Given the description of an element on the screen output the (x, y) to click on. 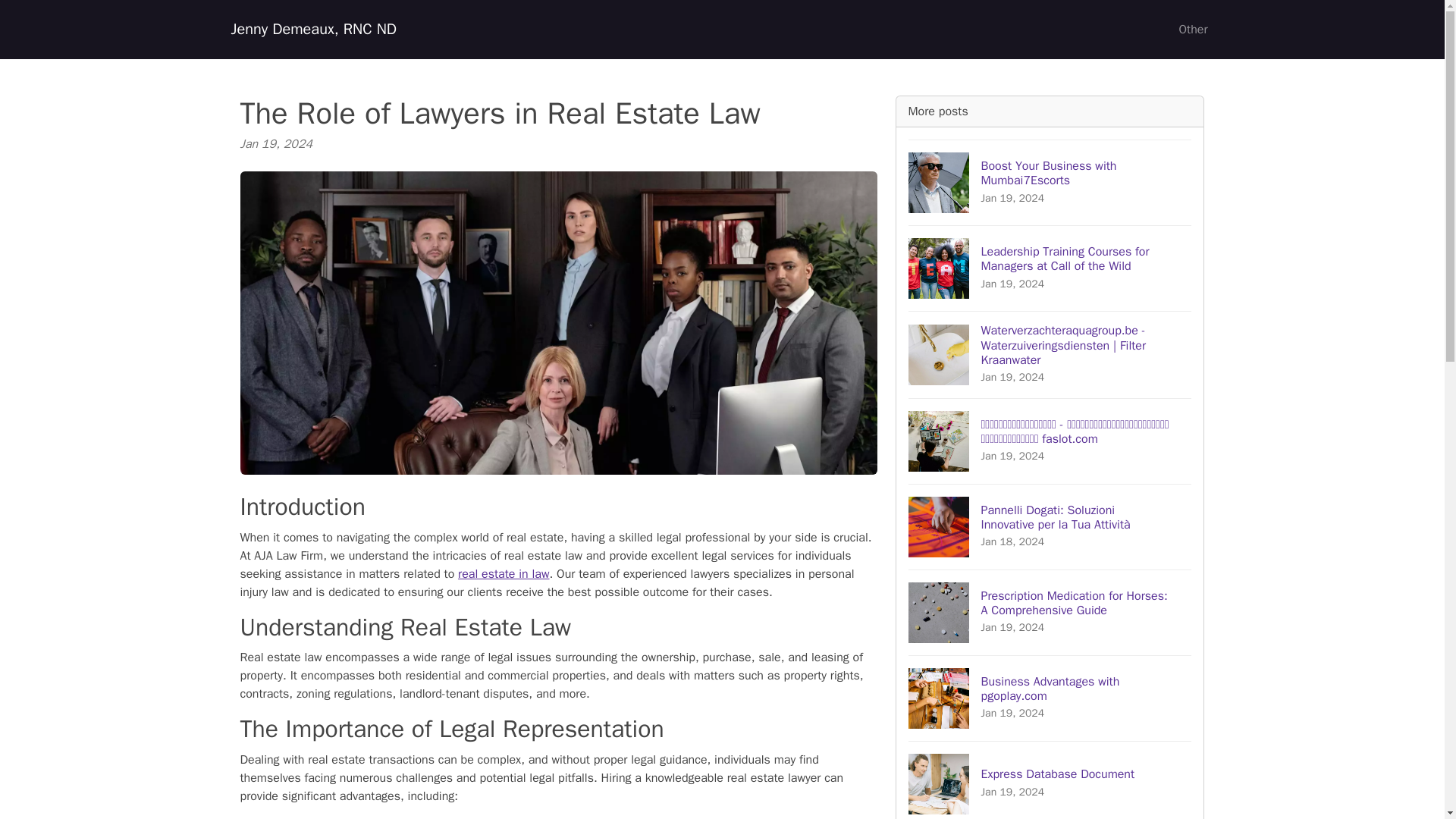
Other (1050, 182)
real estate in law (1192, 29)
Jenny Demeaux, RNC ND (1050, 780)
